Given the description of an element on the screen output the (x, y) to click on. 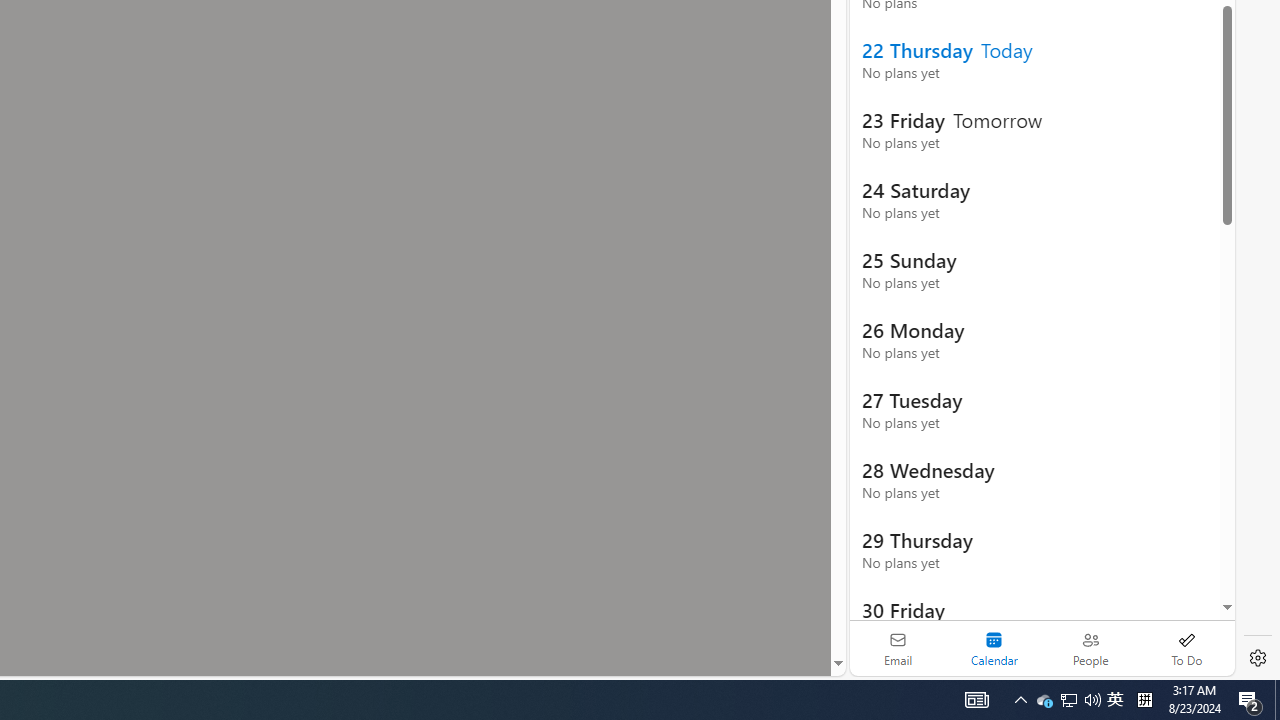
Email (898, 648)
People (1090, 648)
Selected calendar module. Date today is 22 (994, 648)
To Do (1186, 648)
